Given the description of an element on the screen output the (x, y) to click on. 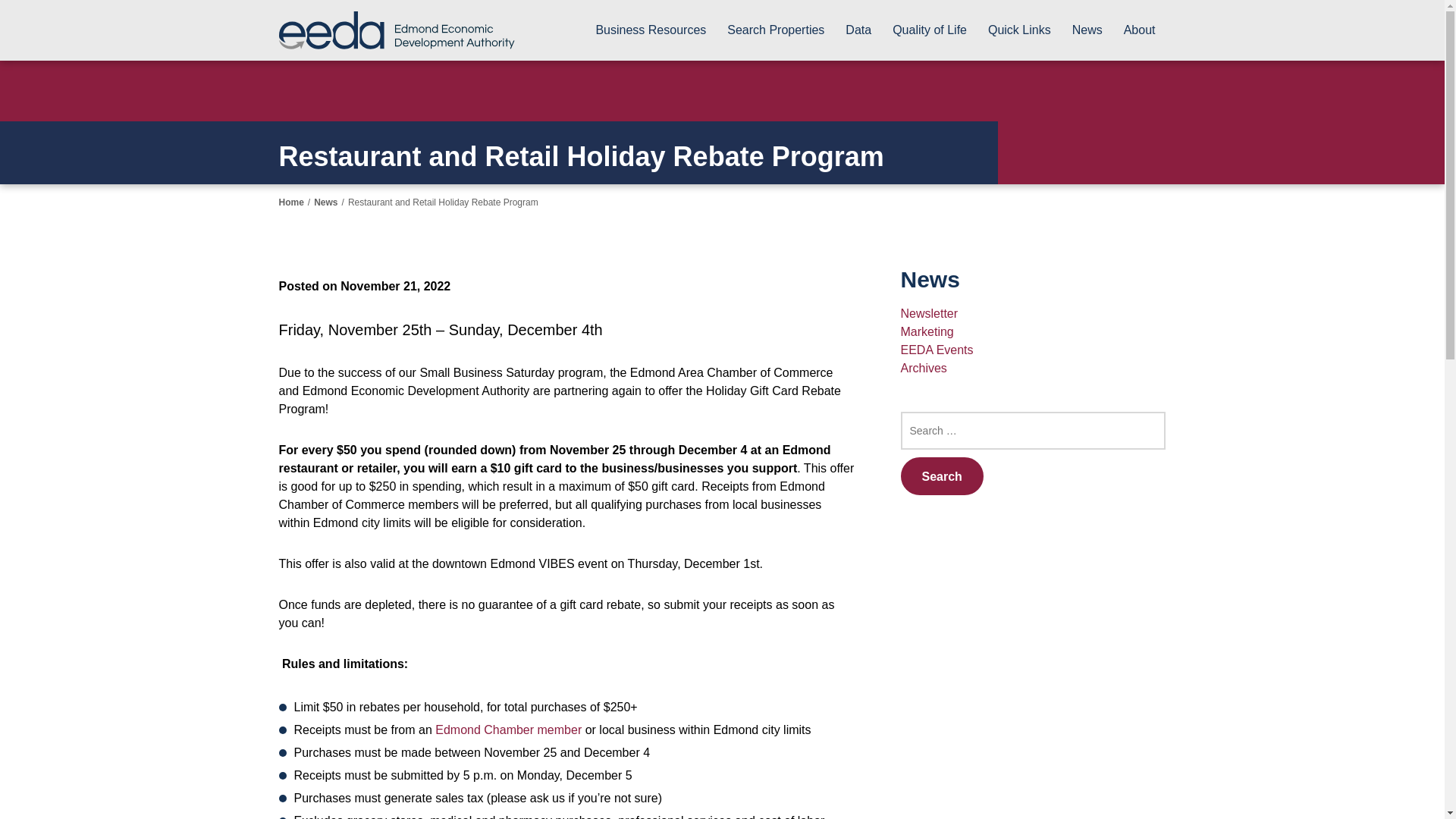
EEDA Events (937, 349)
Data (857, 29)
Search Properties (775, 29)
Quality of Life (929, 29)
Business Resources (650, 29)
Archives (924, 367)
Newsletter (929, 313)
Home (291, 202)
Search (942, 476)
Search (942, 476)
News (1086, 29)
Edmond Chamber member (507, 729)
News (325, 202)
Marketing (927, 331)
About (1140, 29)
